Given the description of an element on the screen output the (x, y) to click on. 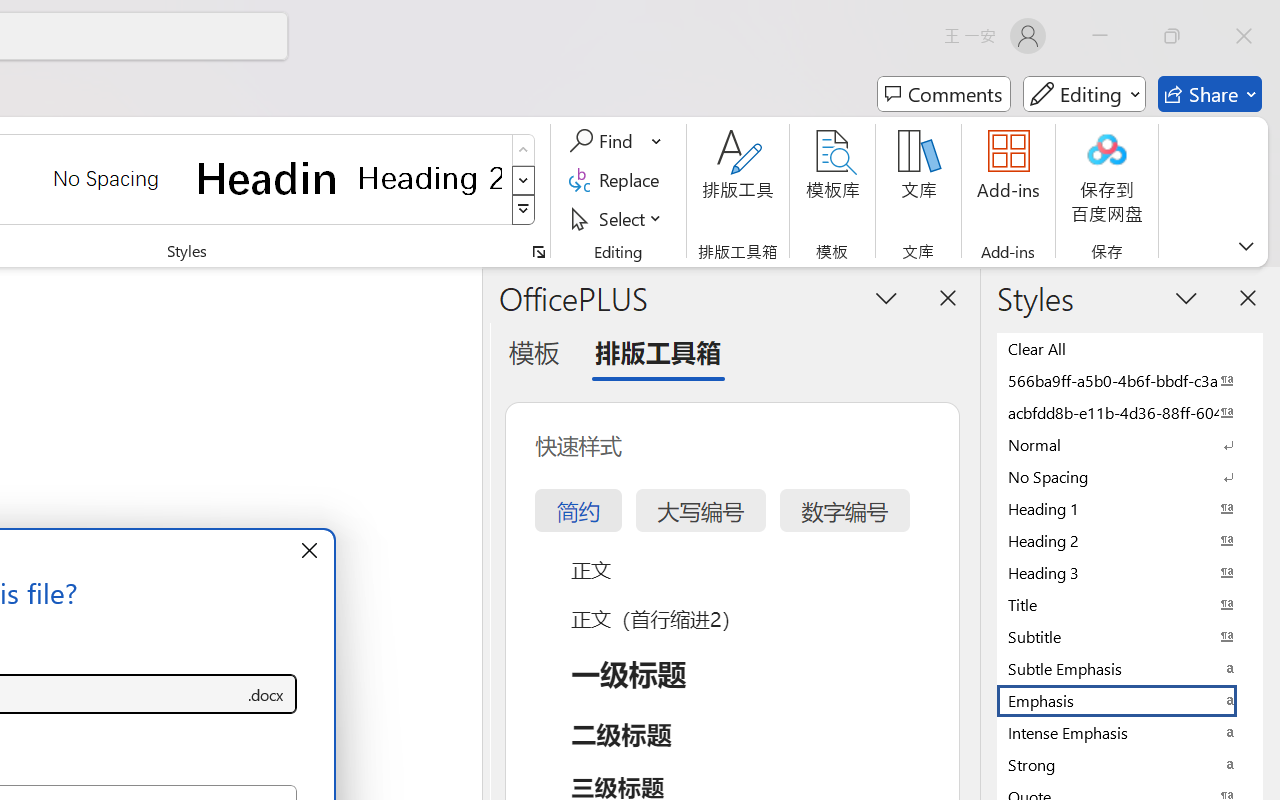
Title (1130, 604)
Restore Down (1172, 36)
Heading 3 (1130, 572)
Intense Emphasis (1130, 732)
Emphasis (1130, 700)
Save as type (265, 694)
Styles... (538, 252)
Select (618, 218)
Heading 1 (267, 178)
acbfdd8b-e11b-4d36-88ff-6049b138f862 (1130, 412)
No Spacing (1130, 476)
